Given the description of an element on the screen output the (x, y) to click on. 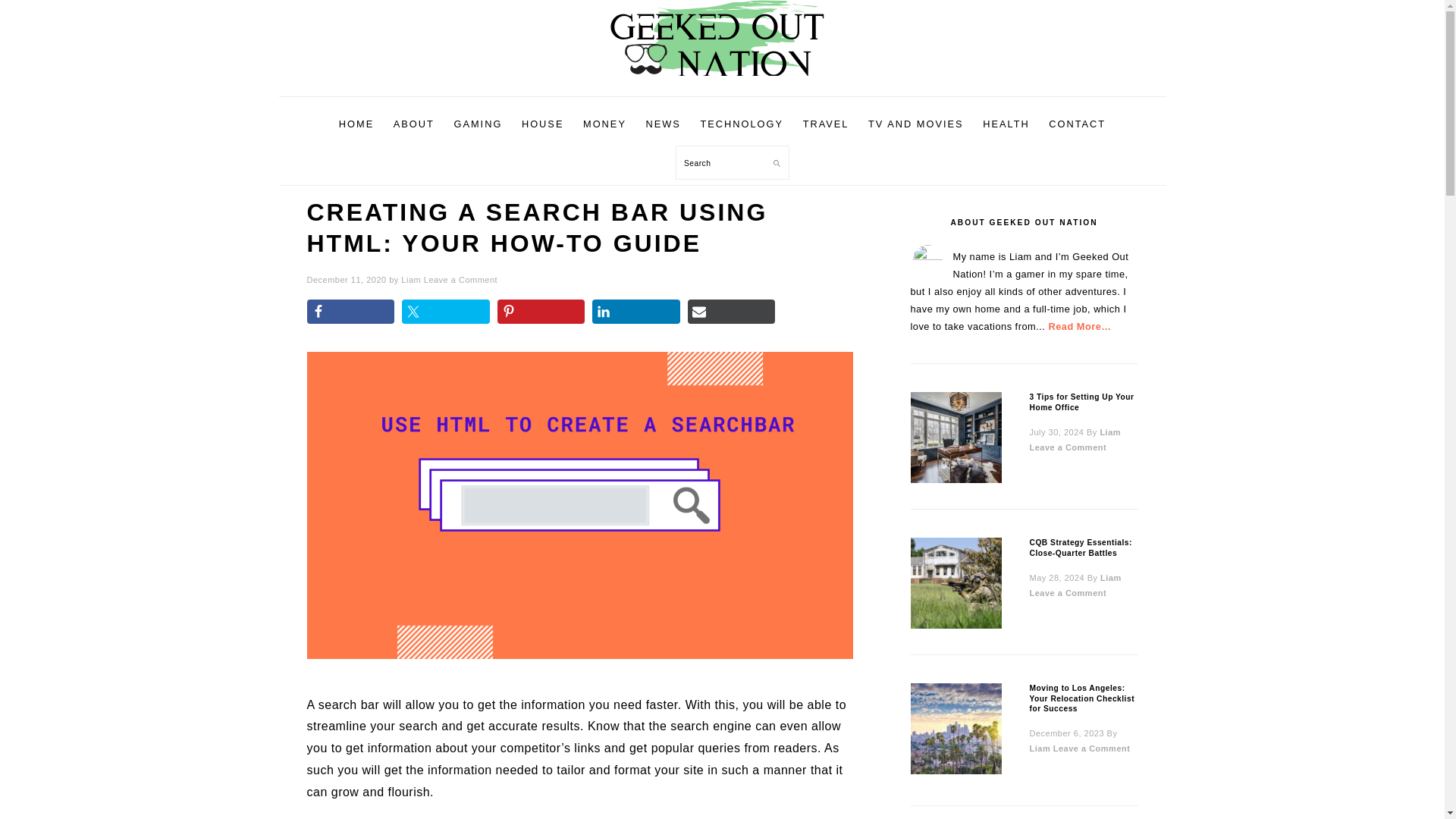
Share on Facebook (350, 311)
HOUSE (542, 123)
CONTACT (1077, 123)
HOME (356, 123)
TV AND MOVIES (915, 123)
Geeked Out Nation (721, 79)
Share on LinkedIn (635, 311)
ABOUT (413, 123)
MONEY (604, 123)
Geeked Out Nation (721, 38)
HEALTH (1005, 123)
Share on Twitter (445, 311)
